Given the description of an element on the screen output the (x, y) to click on. 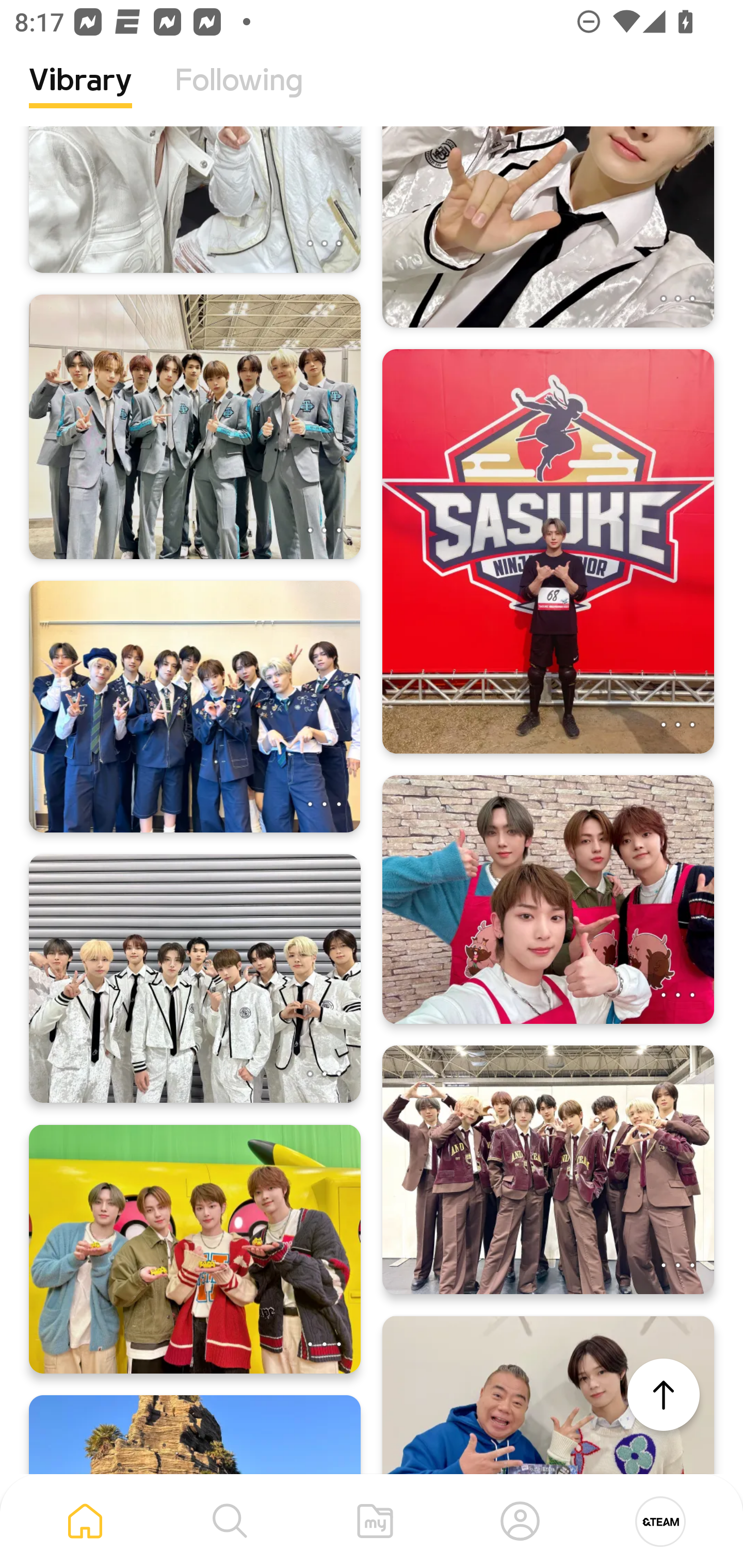
Vibrary (80, 95)
Following (239, 95)
